Given the description of an element on the screen output the (x, y) to click on. 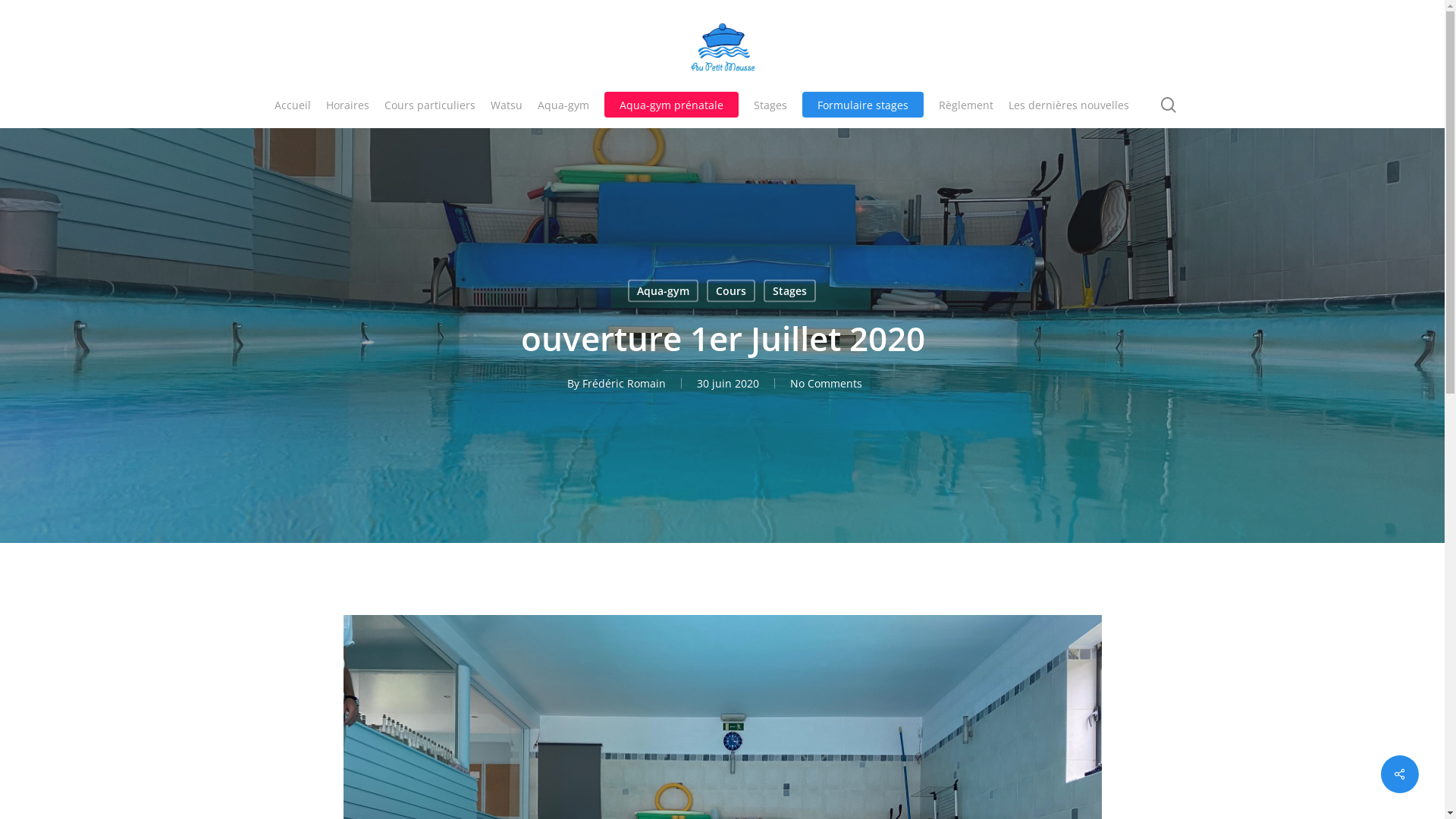
Cours Element type: text (730, 290)
Stages Element type: text (789, 290)
Watsu Element type: text (506, 104)
No Comments Element type: text (826, 383)
Formulaire stages Element type: text (862, 105)
Accueil Element type: text (292, 104)
Aqua-gym Element type: text (563, 104)
Horaires Element type: text (347, 104)
Aqua-gym Element type: text (662, 290)
Stages Element type: text (770, 104)
Cours particuliers Element type: text (429, 104)
search Element type: text (1168, 104)
